Given the description of an element on the screen output the (x, y) to click on. 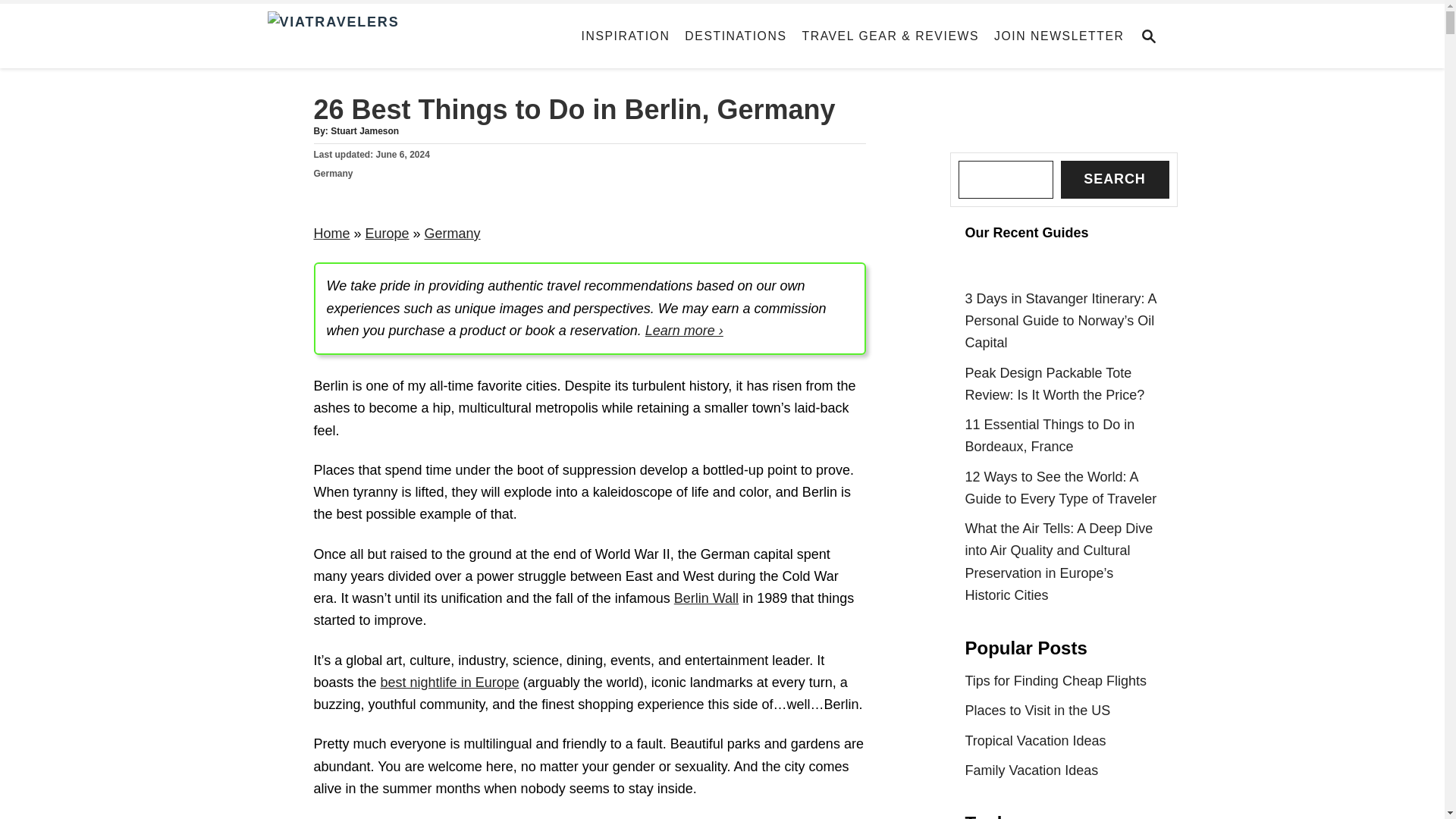
INSPIRATION (625, 36)
DESTINATIONS (735, 36)
SEARCH (1153, 36)
ViaTravelers (400, 35)
